Given the description of an element on the screen output the (x, y) to click on. 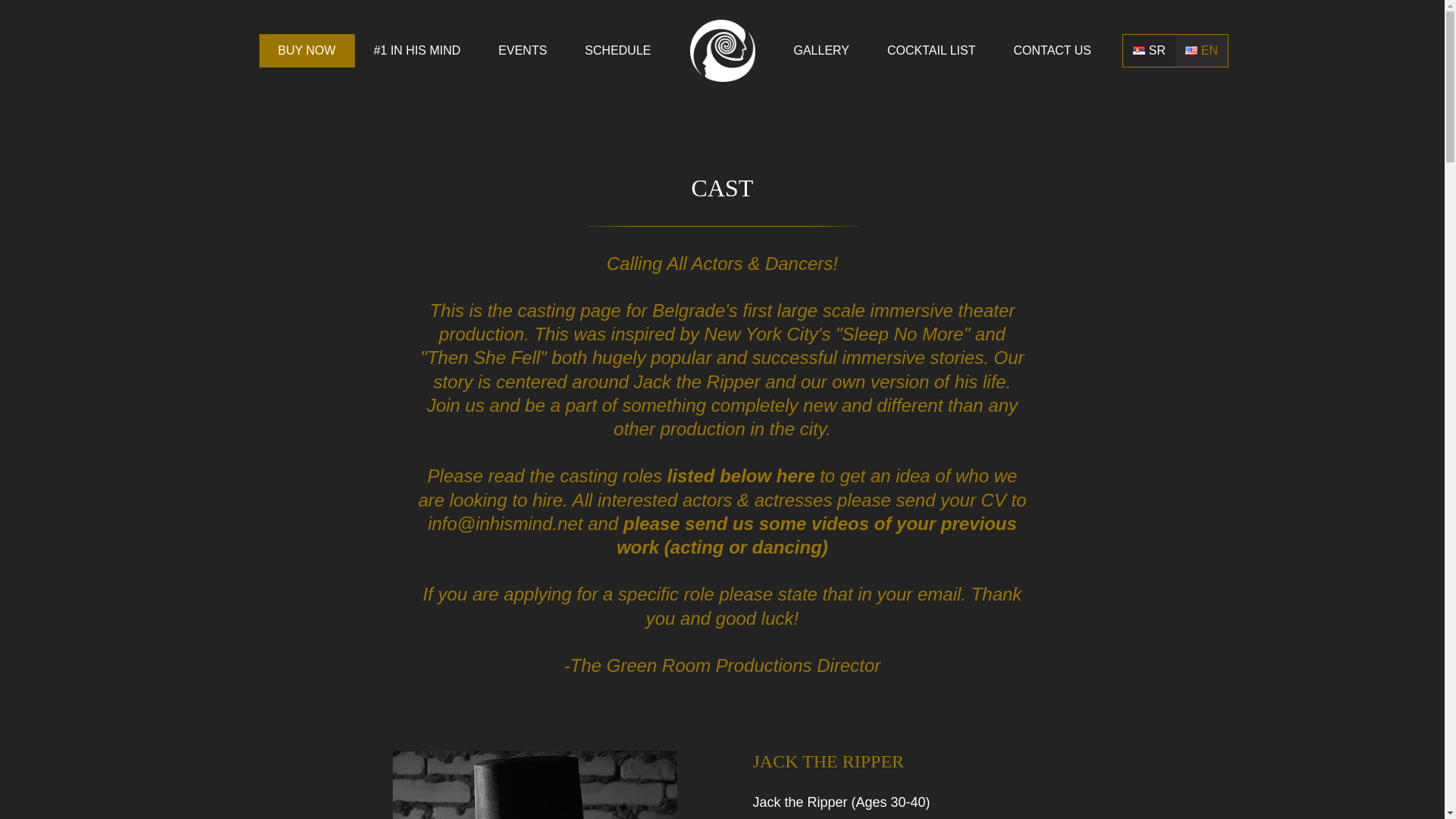
EN (1200, 50)
Gallery (821, 50)
Contact Us (1052, 50)
EN (1200, 50)
COCKTAIL LIST (930, 50)
BUY NOW (307, 50)
Schedule (617, 50)
EVENTS (522, 50)
Events (522, 50)
Buy Now (307, 50)
